Given the description of an element on the screen output the (x, y) to click on. 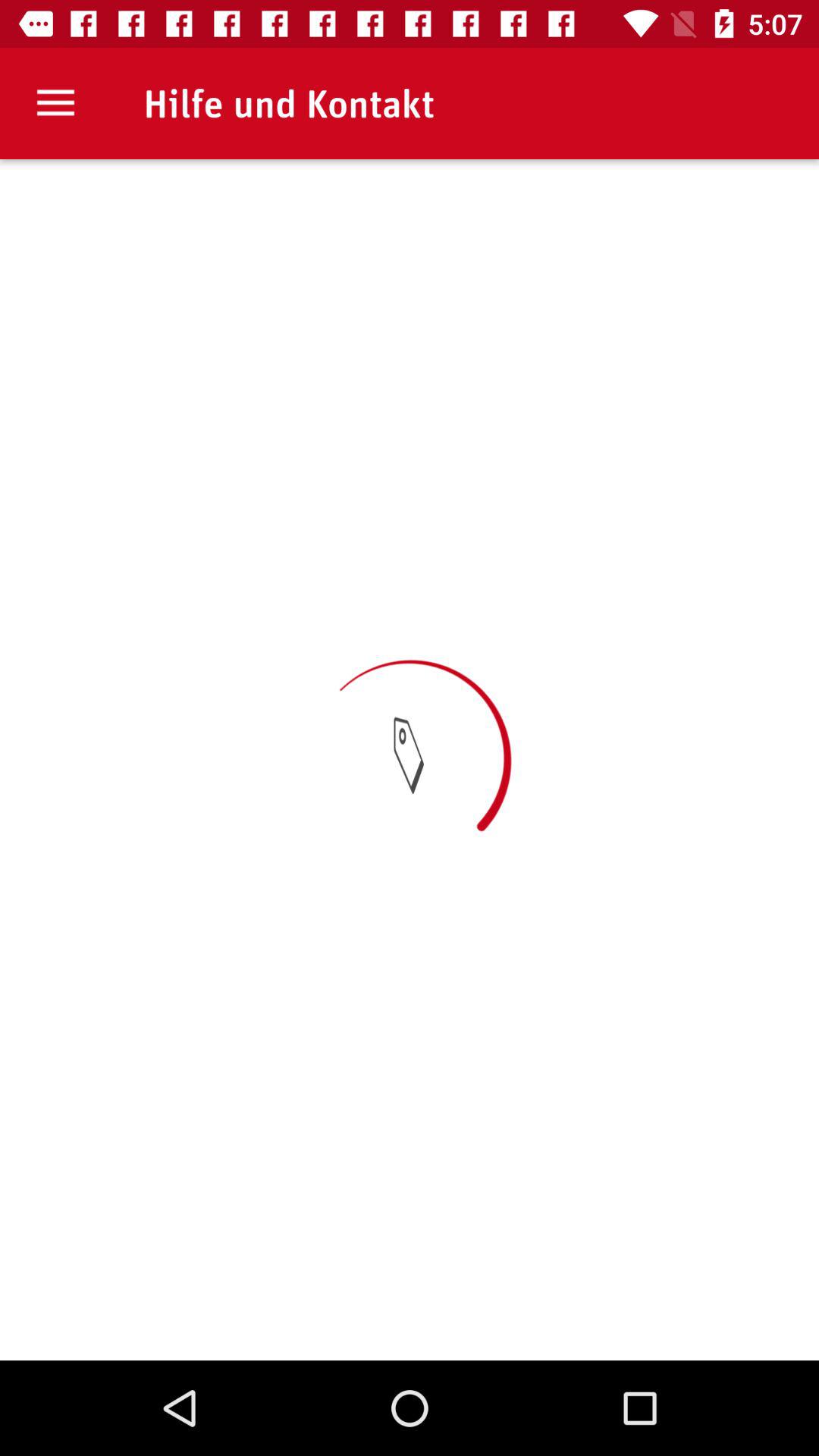
turn on item at the top left corner (55, 103)
